Given the description of an element on the screen output the (x, y) to click on. 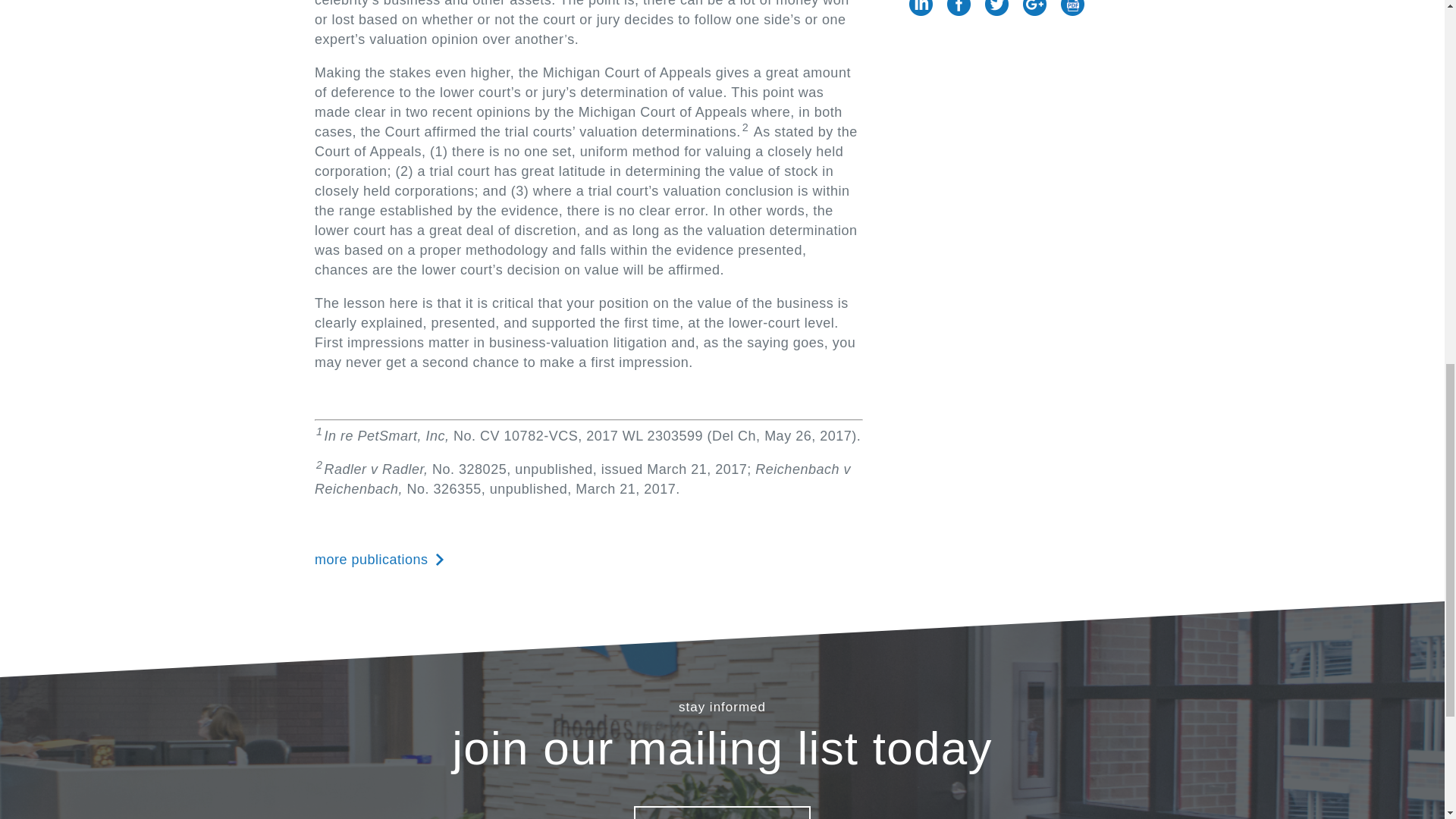
Download (1072, 7)
Facebook (959, 7)
more publications (379, 559)
Twitter (997, 7)
LinkedIn (920, 7)
sign up (721, 812)
